Given the description of an element on the screen output the (x, y) to click on. 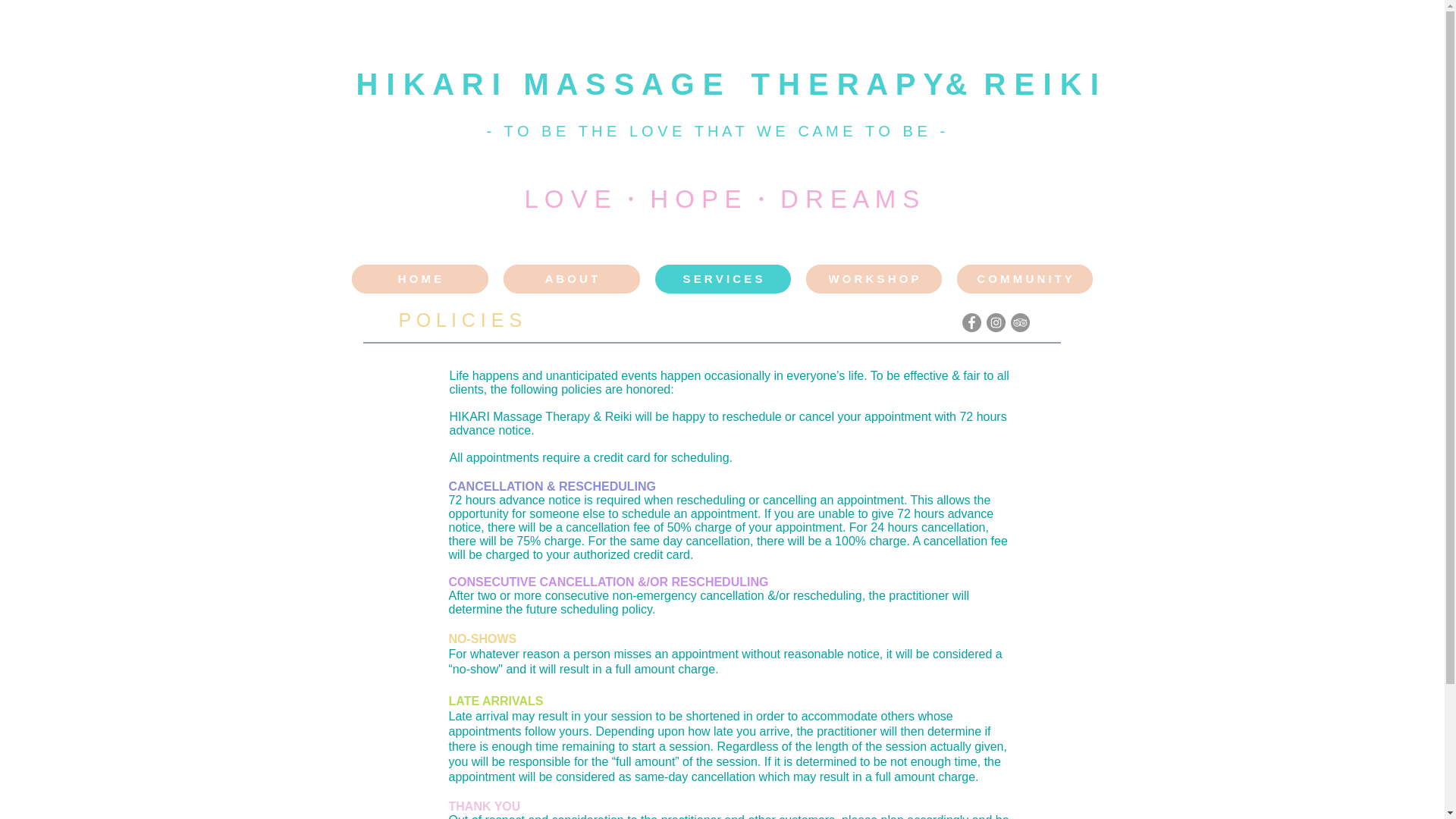
T H E R A P Y (846, 83)
S E R V I C E S (722, 278)
C O M M U N I T Y (1024, 278)
W O R K S H O P (872, 278)
A B O U T (571, 278)
H O M E (419, 278)
M A S S A G E (622, 83)
H I K A R I (428, 83)
